Given the description of an element on the screen output the (x, y) to click on. 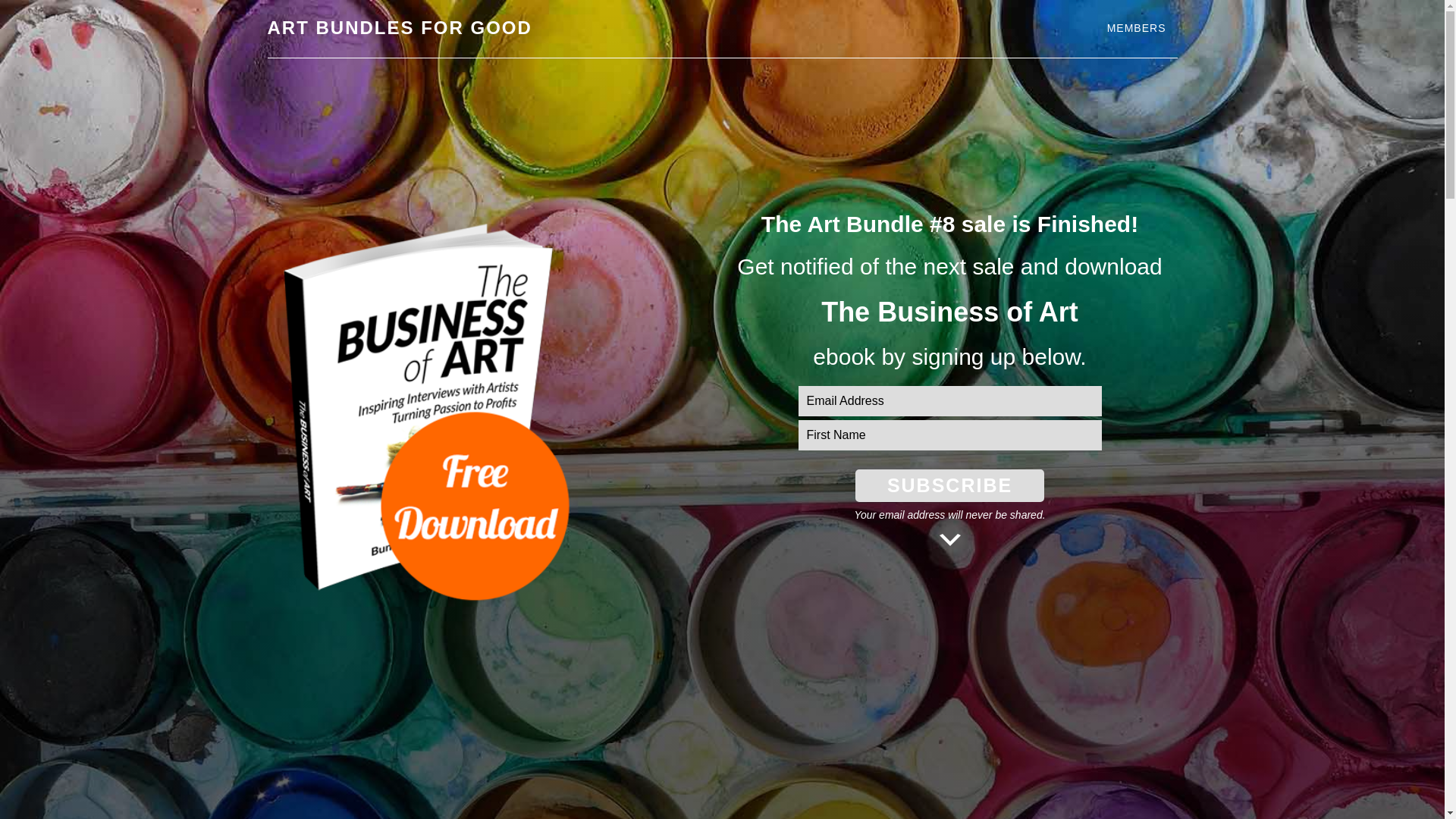
SUBSCRIBE (949, 485)
MEMBERS (1136, 28)
ART BUNDLES FOR GOOD (398, 27)
